Given the description of an element on the screen output the (x, y) to click on. 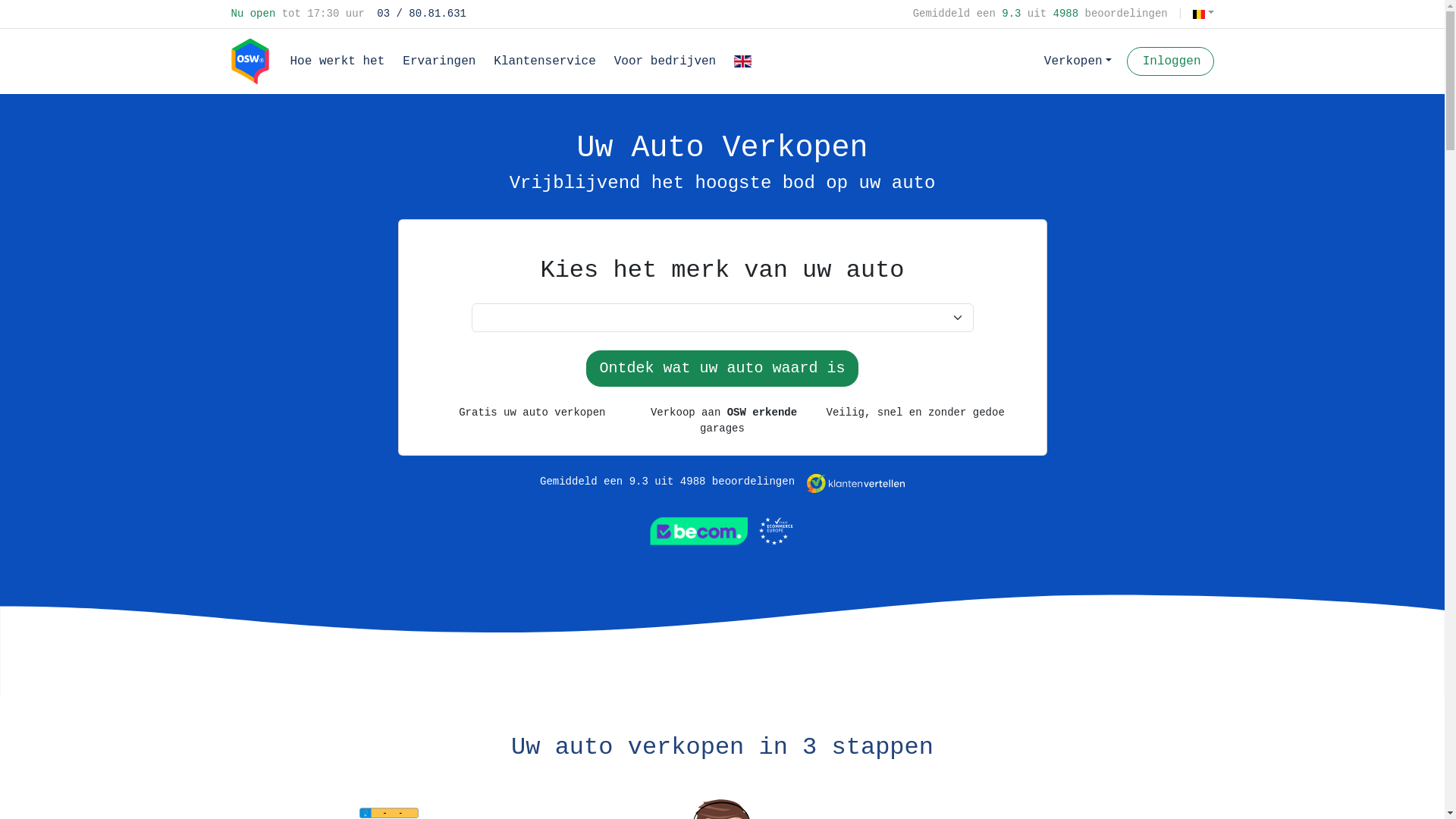
Gemiddeld een 9.3 uit 4988 beoordelingen Element type: text (1043, 13)
Ervaringen Element type: text (438, 61)
Ontdek wat uw auto waard is Element type: text (721, 368)
Hoe werkt het Element type: text (336, 61)
beoordelingen Element type: text (753, 481)
Webwinkel Keurmerk en klantbeoordelingen Element type: hover (722, 520)
Verkopen Element type: text (1077, 61)
Klantenservice Element type: text (544, 61)
Voor bedrijven Element type: text (664, 61)
Inloggen Element type: text (1170, 61)
03 / 80.81.631 Element type: text (418, 13)
